Given the description of an element on the screen output the (x, y) to click on. 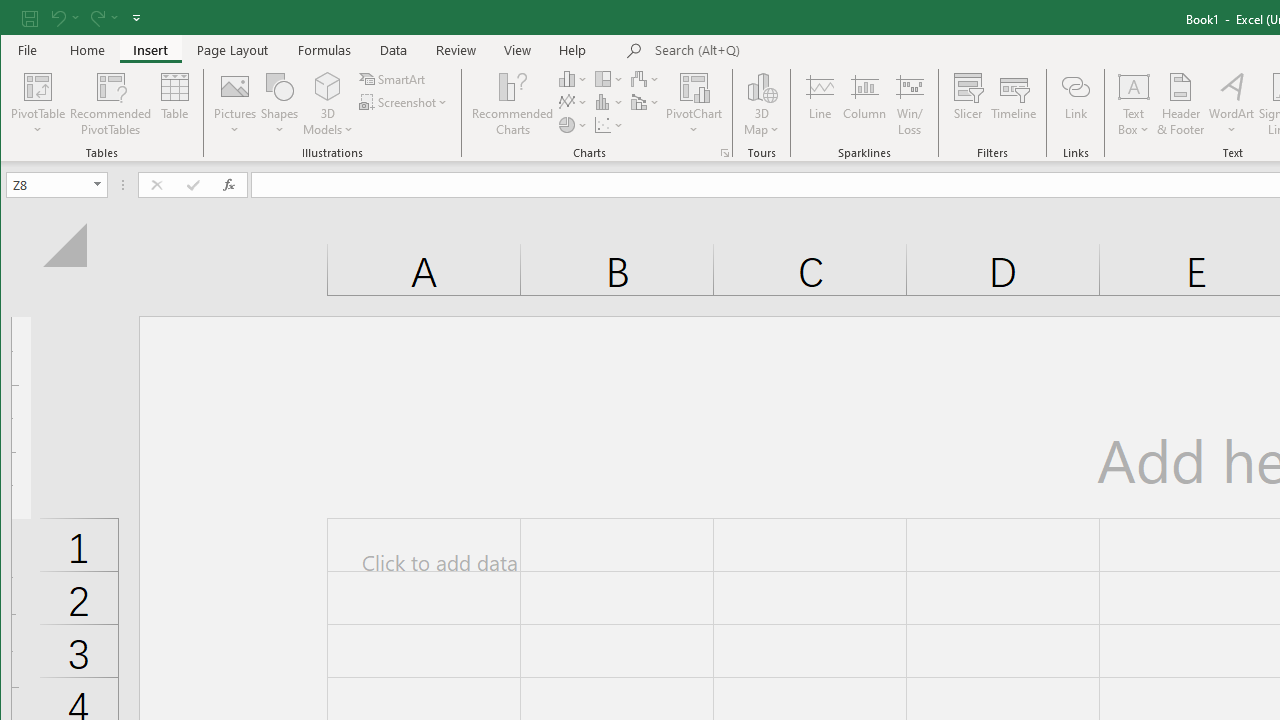
Microsoft search (794, 51)
PivotChart (694, 104)
Timeline (1014, 104)
Insert Waterfall, Funnel, Stock, Surface, or Radar Chart (646, 78)
3D Models (327, 104)
WordArt (1231, 104)
Slicer... (968, 104)
